Given the description of an element on the screen output the (x, y) to click on. 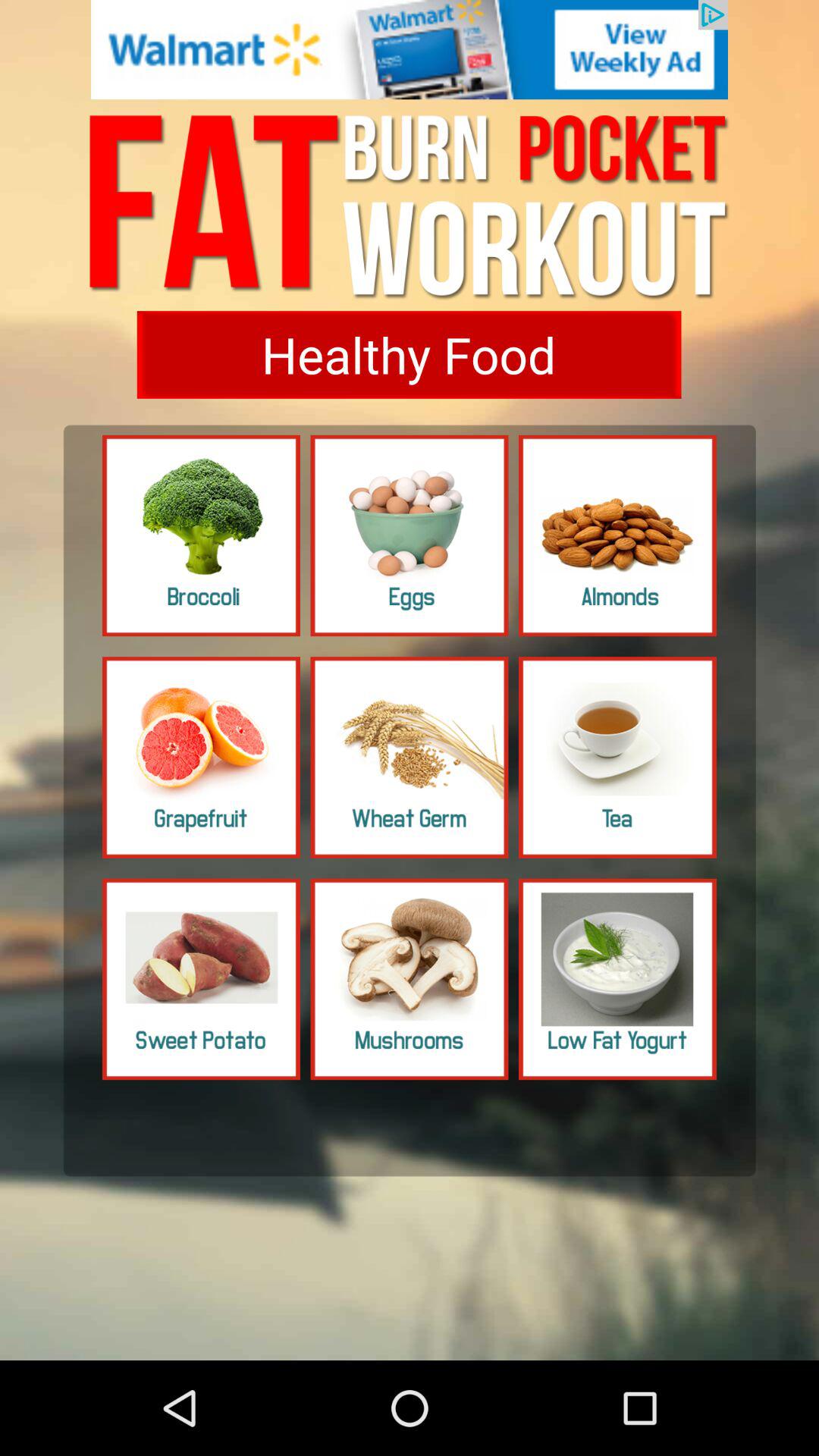
select the option of low fat yogurt (617, 979)
